Given the description of an element on the screen output the (x, y) to click on. 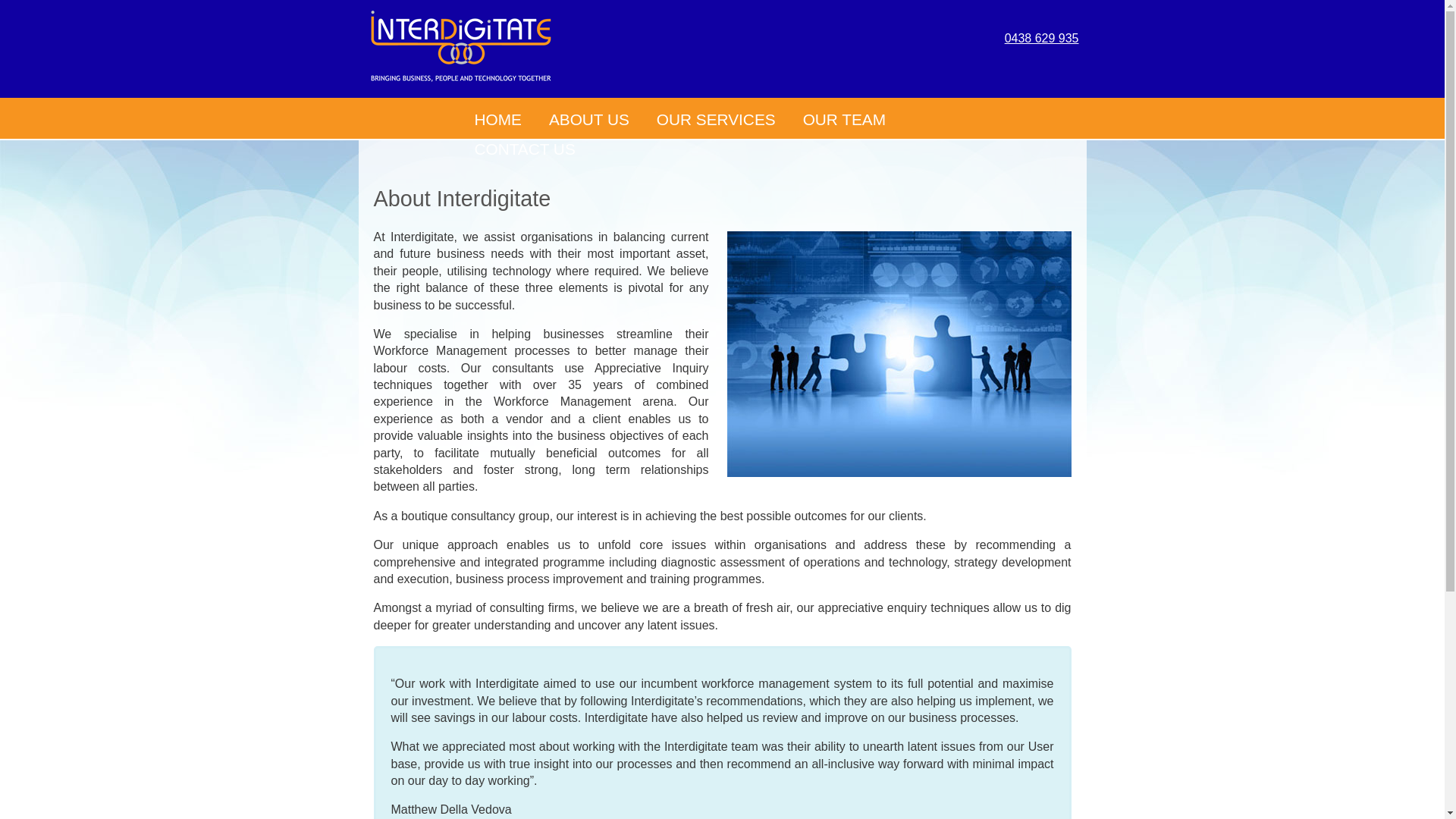
ABOUT US Element type: text (589, 119)
0438 629 935 Element type: text (1041, 38)
CONTACT US Element type: text (525, 149)
OUR TEAM Element type: text (844, 119)
OUR SERVICES Element type: text (716, 119)
HOME Element type: text (498, 119)
